Given the description of an element on the screen output the (x, y) to click on. 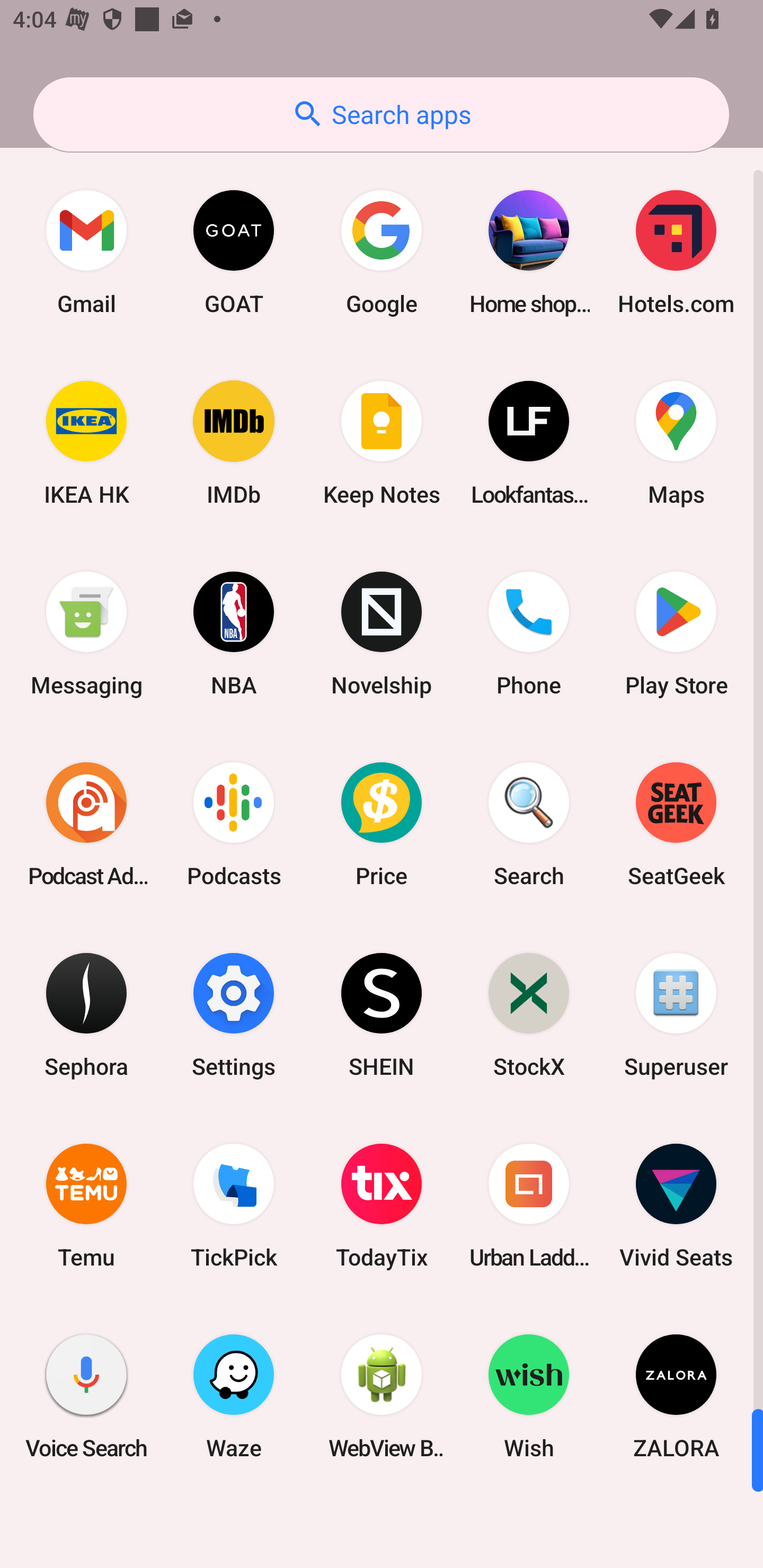
  Search apps (381, 114)
Gmail (86, 252)
GOAT (233, 252)
Google (381, 252)
Home shopping (528, 252)
Hotels.com (676, 252)
IKEA HK (86, 442)
IMDb (233, 442)
Keep Notes (381, 442)
Lookfantastic (528, 442)
Maps (676, 442)
Messaging (86, 633)
NBA (233, 633)
Novelship (381, 633)
Phone (528, 633)
Play Store (676, 633)
Podcast Addict (86, 823)
Podcasts (233, 823)
Price (381, 823)
Search (528, 823)
SeatGeek (676, 823)
Sephora (86, 1014)
Settings (233, 1014)
SHEIN (381, 1014)
StockX (528, 1014)
Superuser (676, 1014)
Temu (86, 1205)
TickPick (233, 1205)
TodayTix (381, 1205)
Urban Ladder (528, 1205)
Vivid Seats (676, 1205)
Voice Search (86, 1396)
Waze (233, 1396)
WebView Browser Tester (381, 1396)
Wish (528, 1396)
ZALORA (676, 1396)
